Given the description of an element on the screen output the (x, y) to click on. 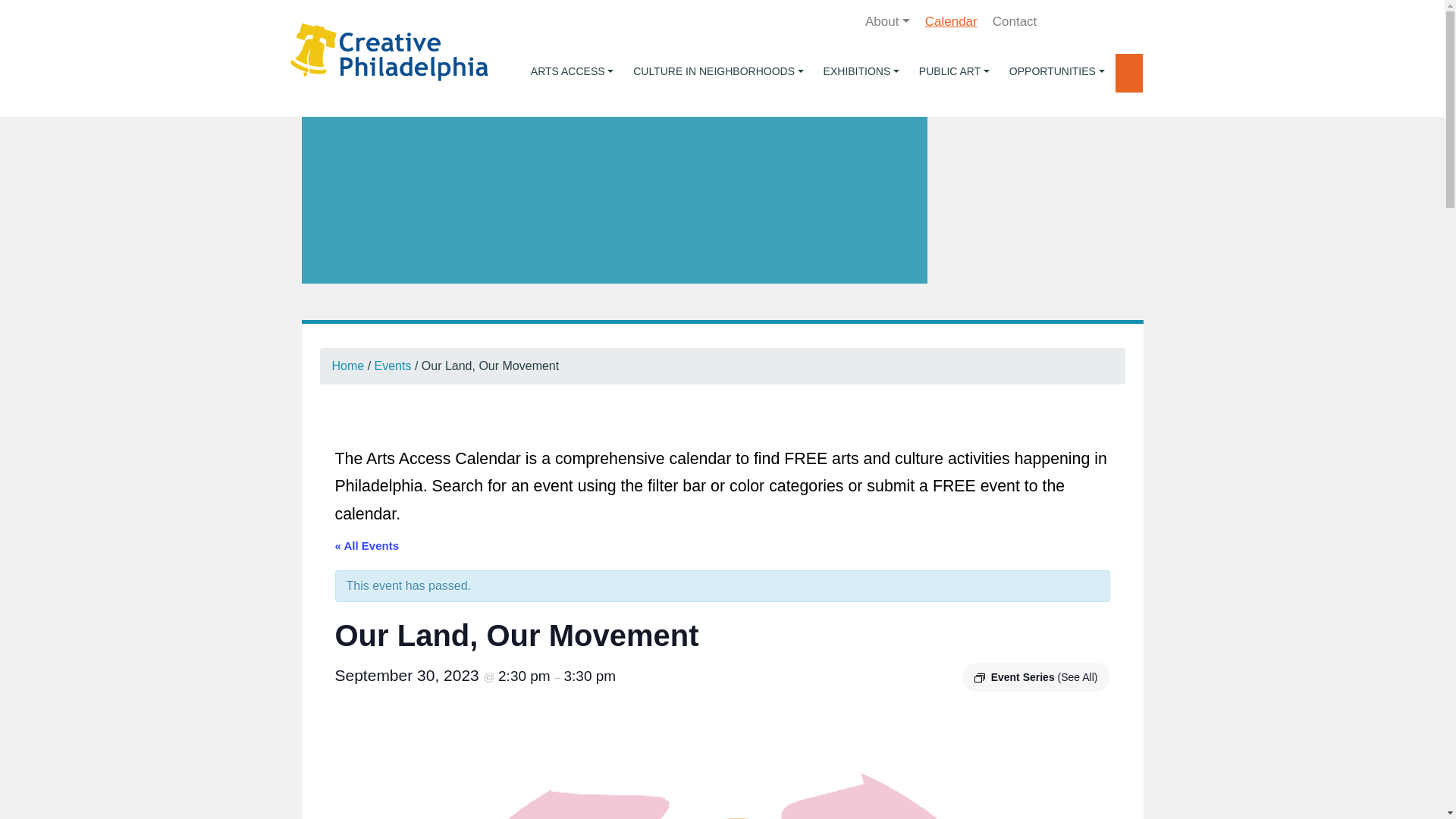
PUBLIC ART (954, 72)
CULTURE IN NEIGHBORHOODS (718, 72)
About (887, 21)
Calendar (951, 21)
EXHIBITIONS (860, 72)
INSTAGRAM, OPENS IN NEW TAB (1125, 22)
Contact (1015, 21)
OPPORTUNITIES (1056, 72)
ARTS ACCESS (572, 72)
Event Series (979, 677)
